Given the description of an element on the screen output the (x, y) to click on. 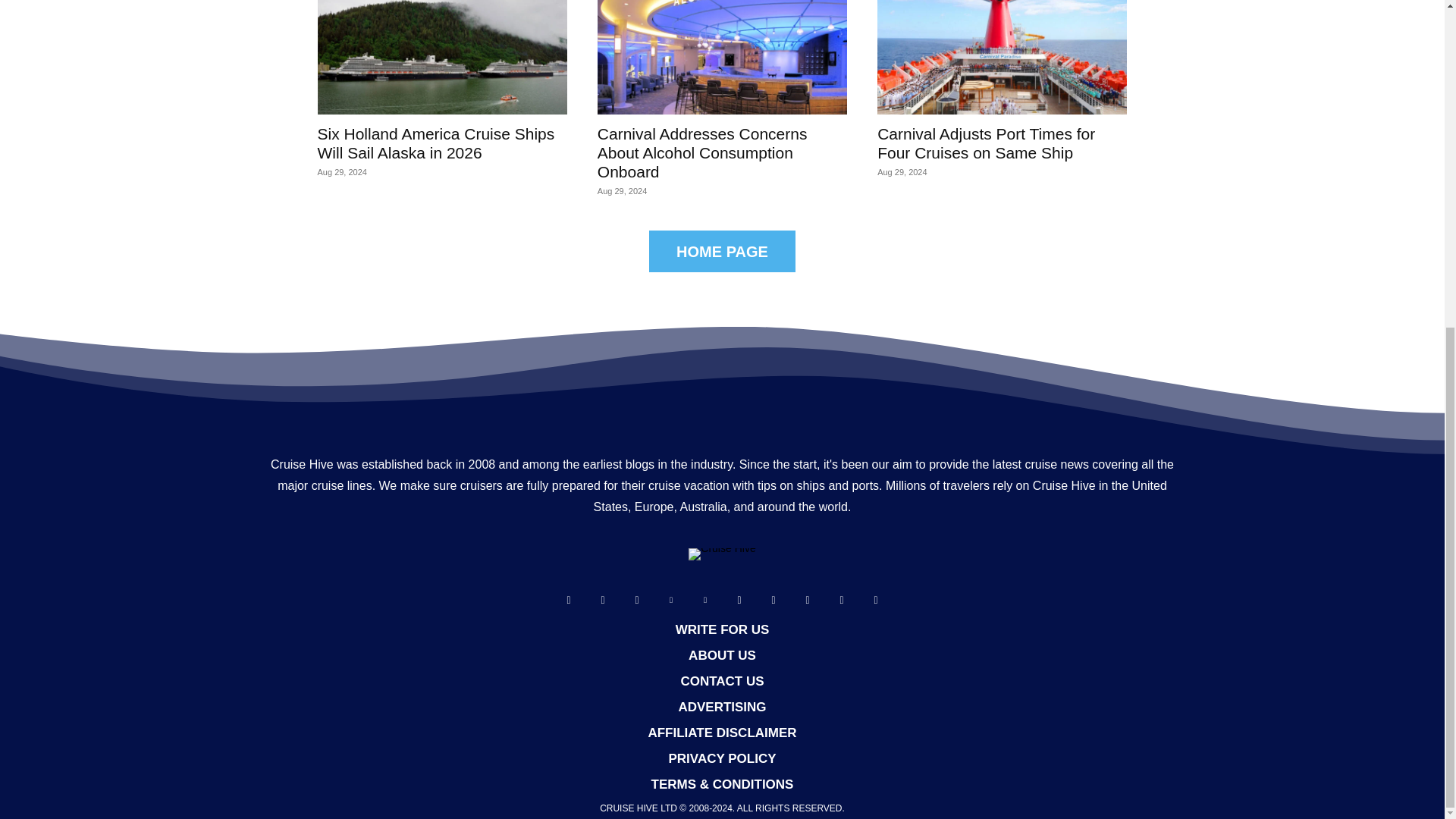
Carnival Adjusts Port Times for Four Cruises on Same Ship (985, 143)
Six Holland America Cruise Ships Will Sail Alaska in 2026 (441, 57)
Carnival Adjusts Port Times for Four Cruises on Same Ship (1001, 57)
Six Holland America Cruise Ships Will Sail Alaska in 2026 (435, 143)
